Given the description of an element on the screen output the (x, y) to click on. 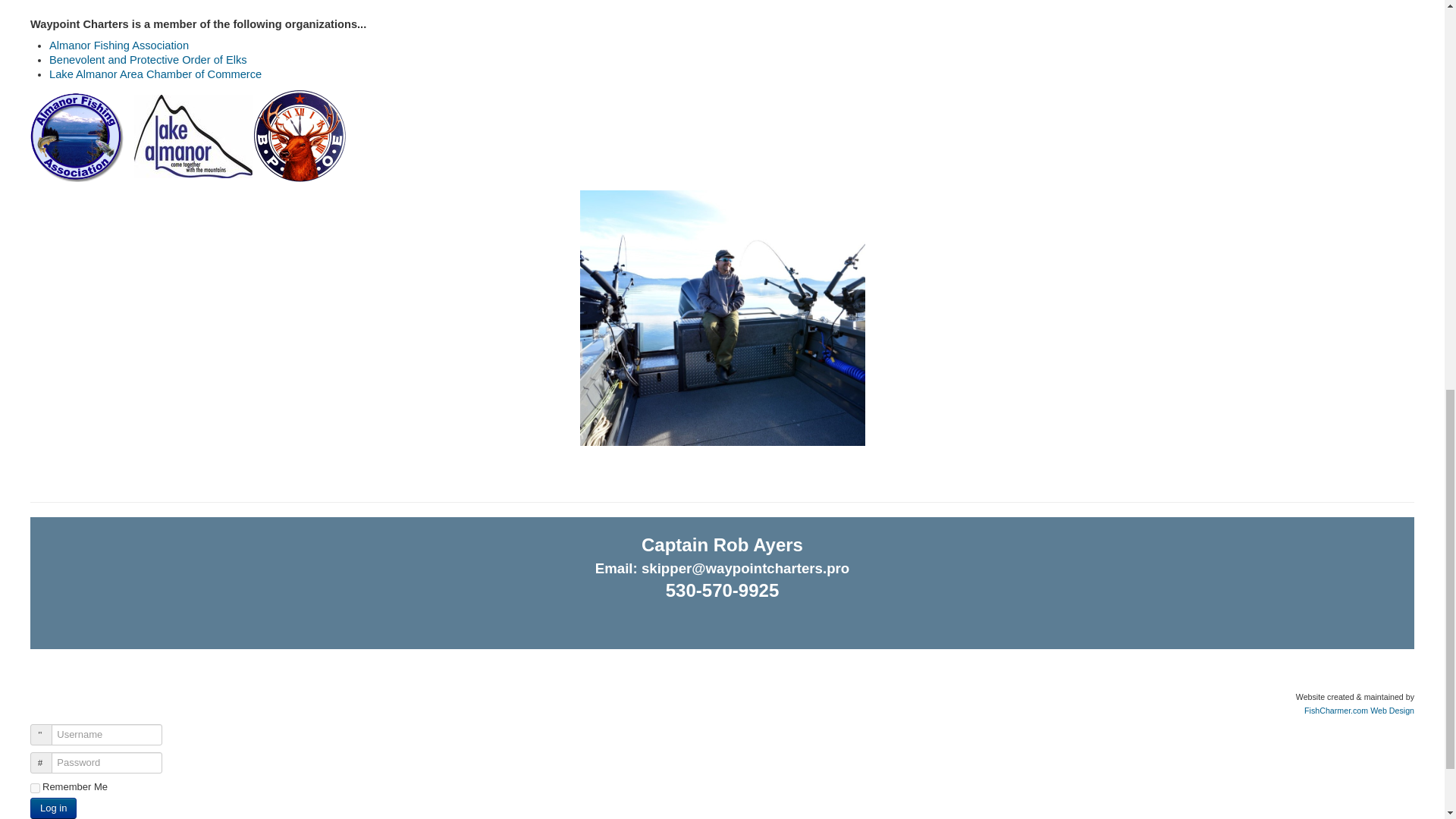
Log in (53, 808)
FishCharmer.com Web Design (1358, 709)
Lake Almanor Area Chamber of Commerce (155, 73)
Benevolent and Protective Order of Elks (148, 60)
Almanor Fishing Association (119, 45)
yes (35, 787)
